Given the description of an element on the screen output the (x, y) to click on. 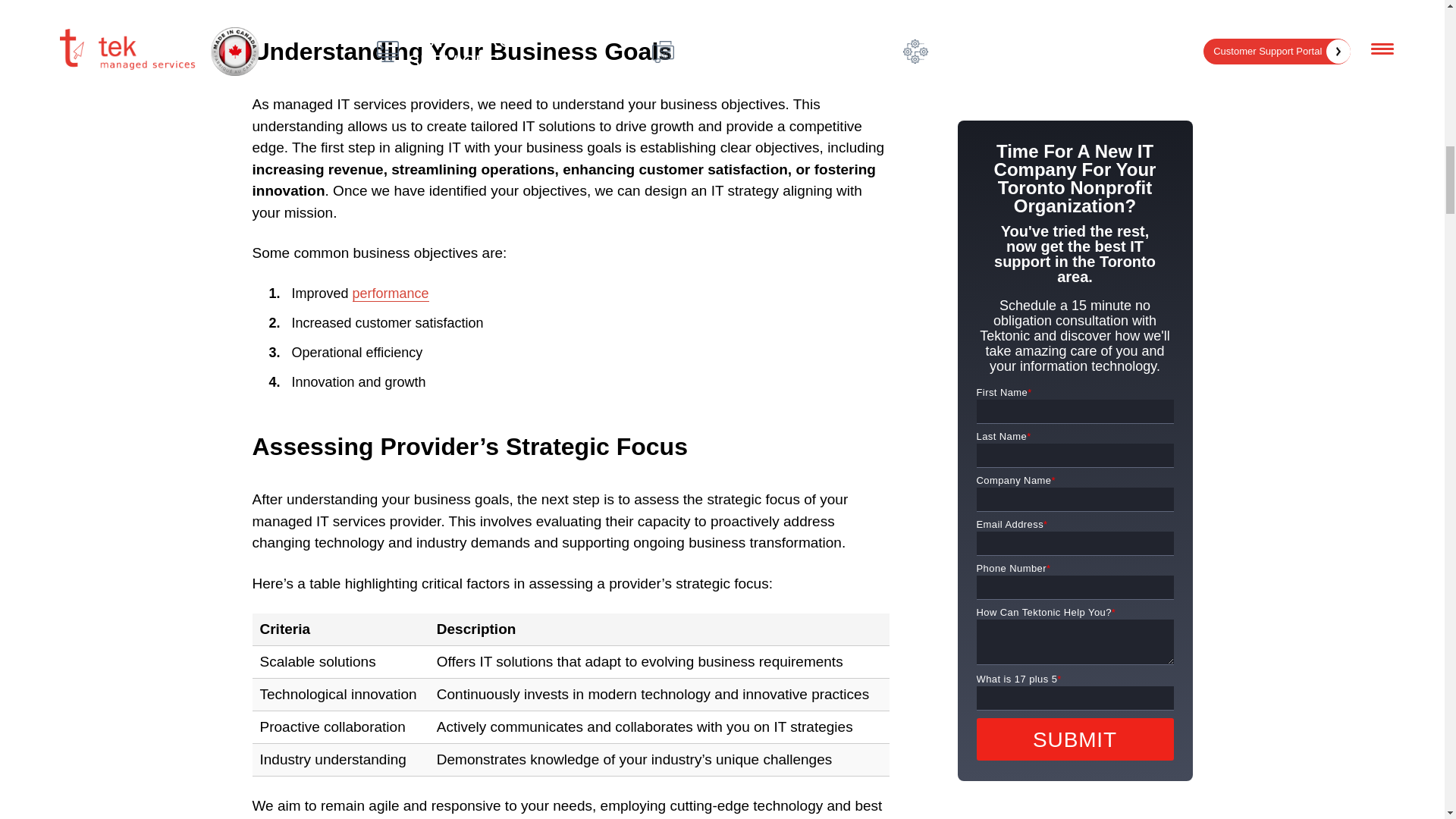
performance (390, 293)
